Given the description of an element on the screen output the (x, y) to click on. 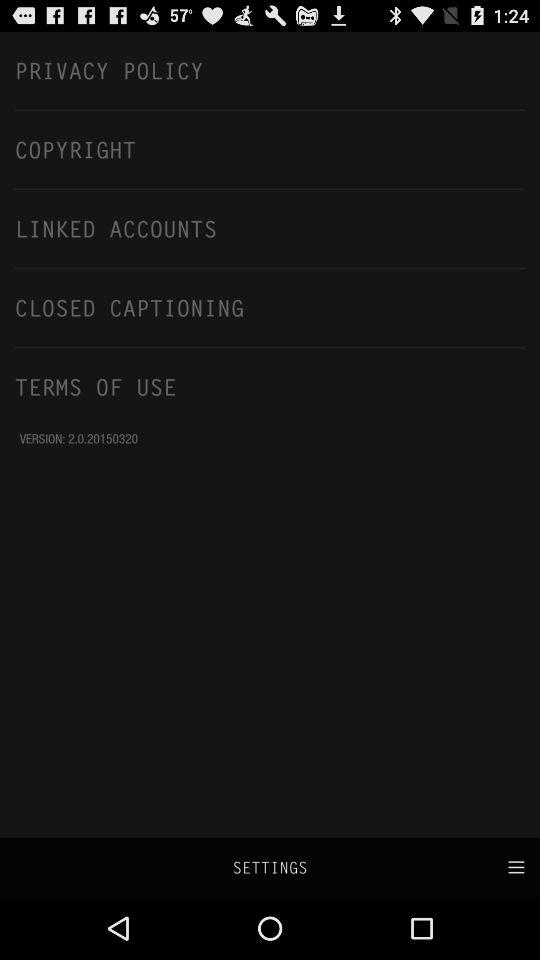
jump until the closed captioning icon (270, 307)
